Given the description of an element on the screen output the (x, y) to click on. 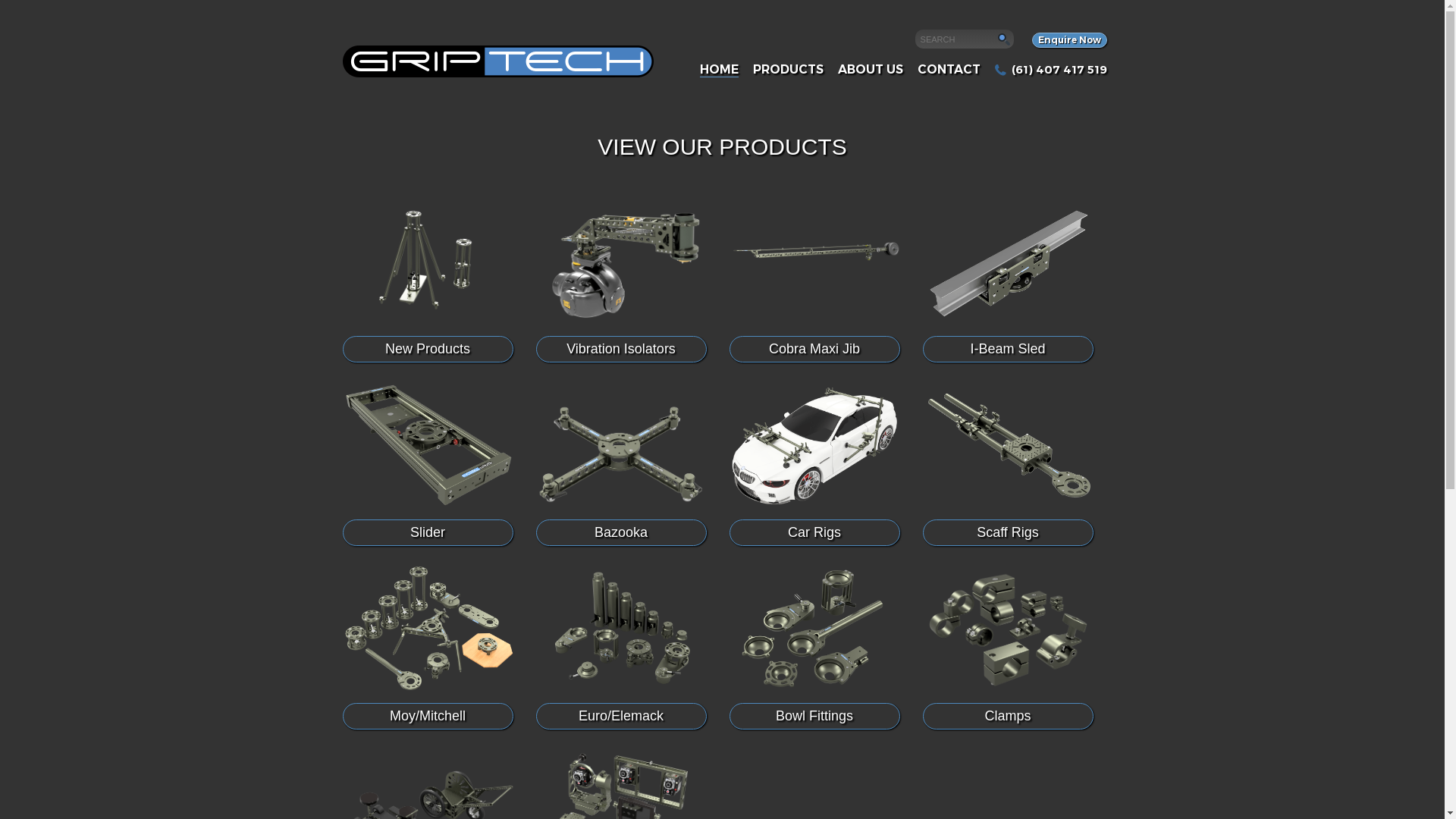
Search Element type: hover (954, 38)
(61) 407 417 519 Element type: text (1050, 69)
Euro/Elemack Element type: text (620, 646)
Bazooka Element type: text (620, 463)
Scaff Rigs Element type: text (1007, 463)
Vibration Isolators Element type: text (620, 279)
Car Rigs Element type: text (814, 463)
ABOUT US Element type: text (870, 69)
Moy/Mitchell Element type: text (427, 646)
Bowl Fittings Element type: text (814, 646)
Slider Element type: text (427, 463)
I-Beam Sled Element type: text (1007, 279)
PRODUCTS Element type: text (788, 69)
CONTACT Element type: text (948, 69)
Enquire Now Element type: text (1068, 39)
Clamps Element type: text (1007, 646)
New Products Element type: text (427, 279)
Cobra Maxi Jib Element type: text (814, 279)
HOME Element type: text (718, 69)
